Given the description of an element on the screen output the (x, y) to click on. 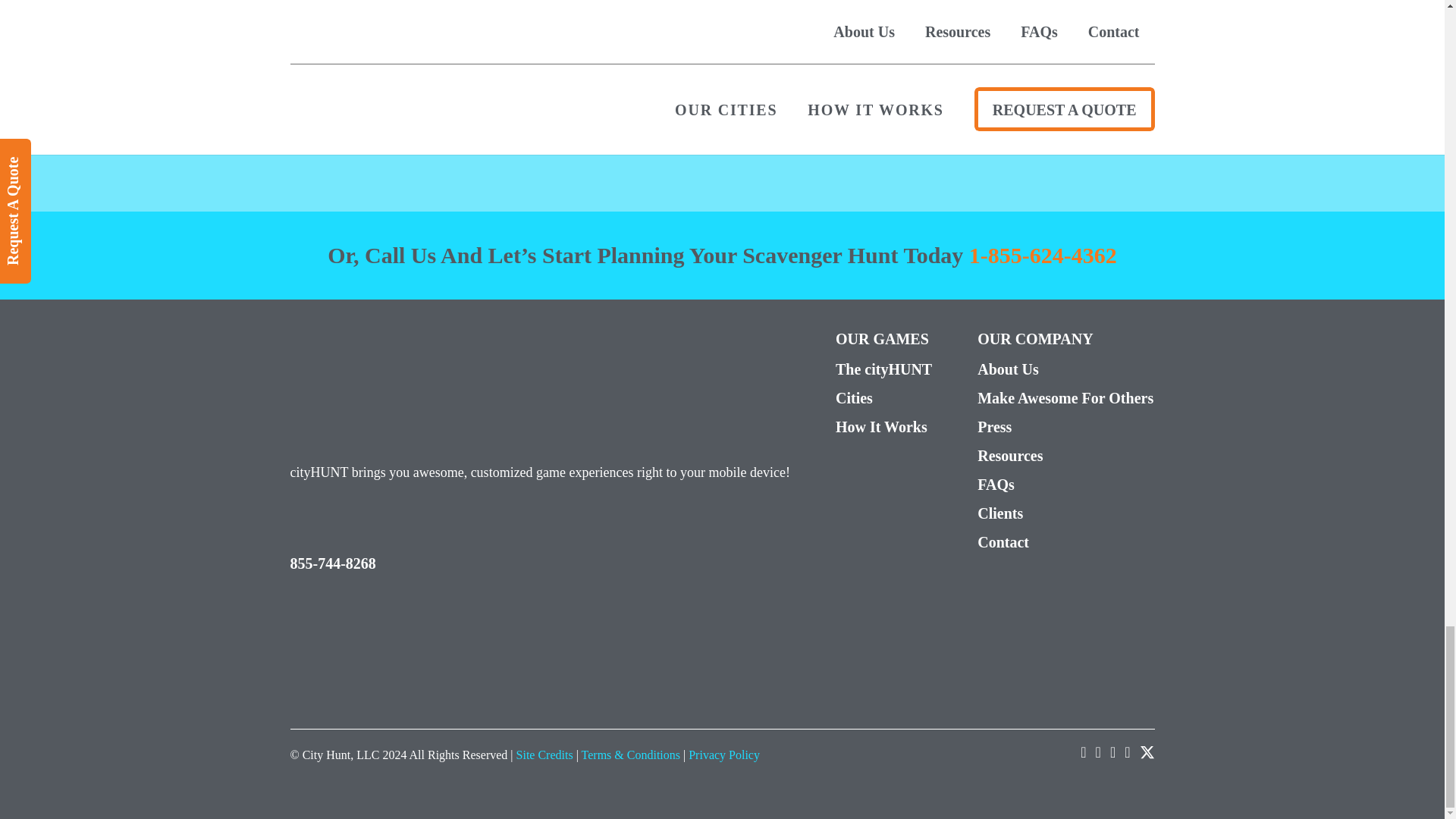
FAQs (1064, 484)
Resources (1064, 455)
855-744-8268 (332, 563)
LinkedIn (1126, 752)
About Us (1064, 369)
The cityHUNT (883, 369)
YouTube (1098, 752)
Make Awesome For Others (1064, 397)
Site Credits (544, 754)
Pinterest (1112, 752)
Clients (1064, 513)
Facebook (1083, 752)
Contact (1064, 541)
Cities (883, 397)
Twitter (1146, 752)
